Given the description of an element on the screen output the (x, y) to click on. 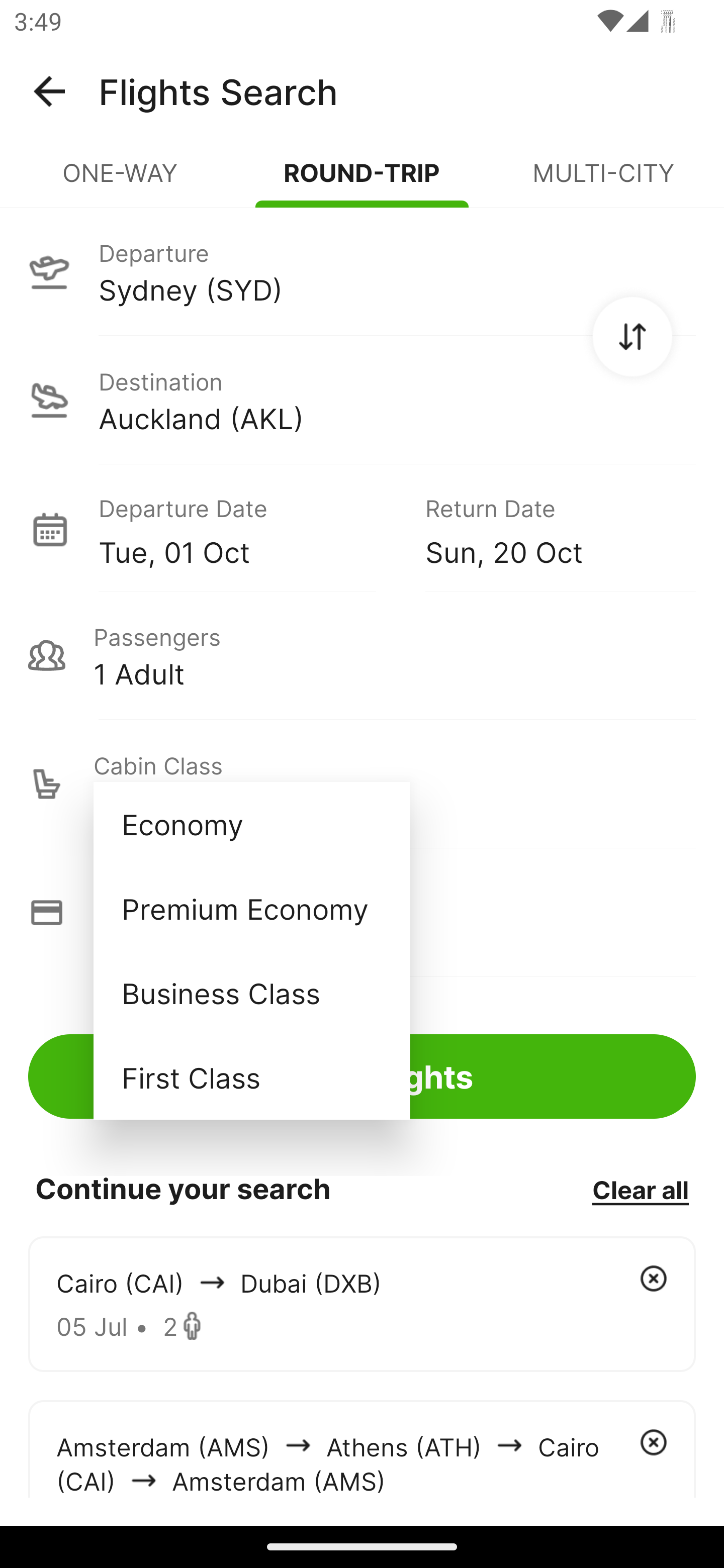
Economy (251, 824)
Premium Economy (251, 908)
Business Class (251, 992)
First Class (251, 1076)
